Given the description of an element on the screen output the (x, y) to click on. 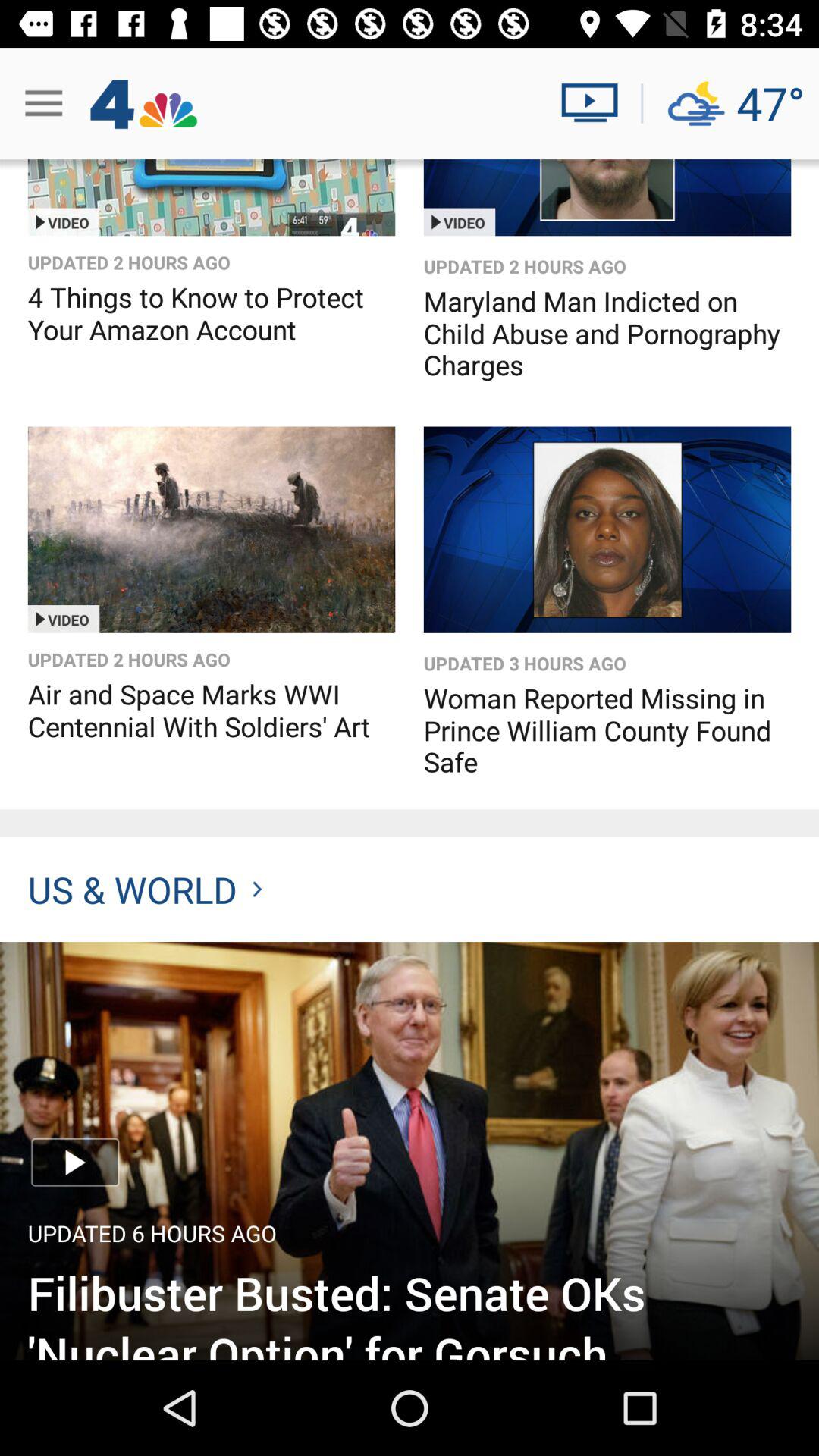
watch live news videos (595, 103)
